Given the description of an element on the screen output the (x, y) to click on. 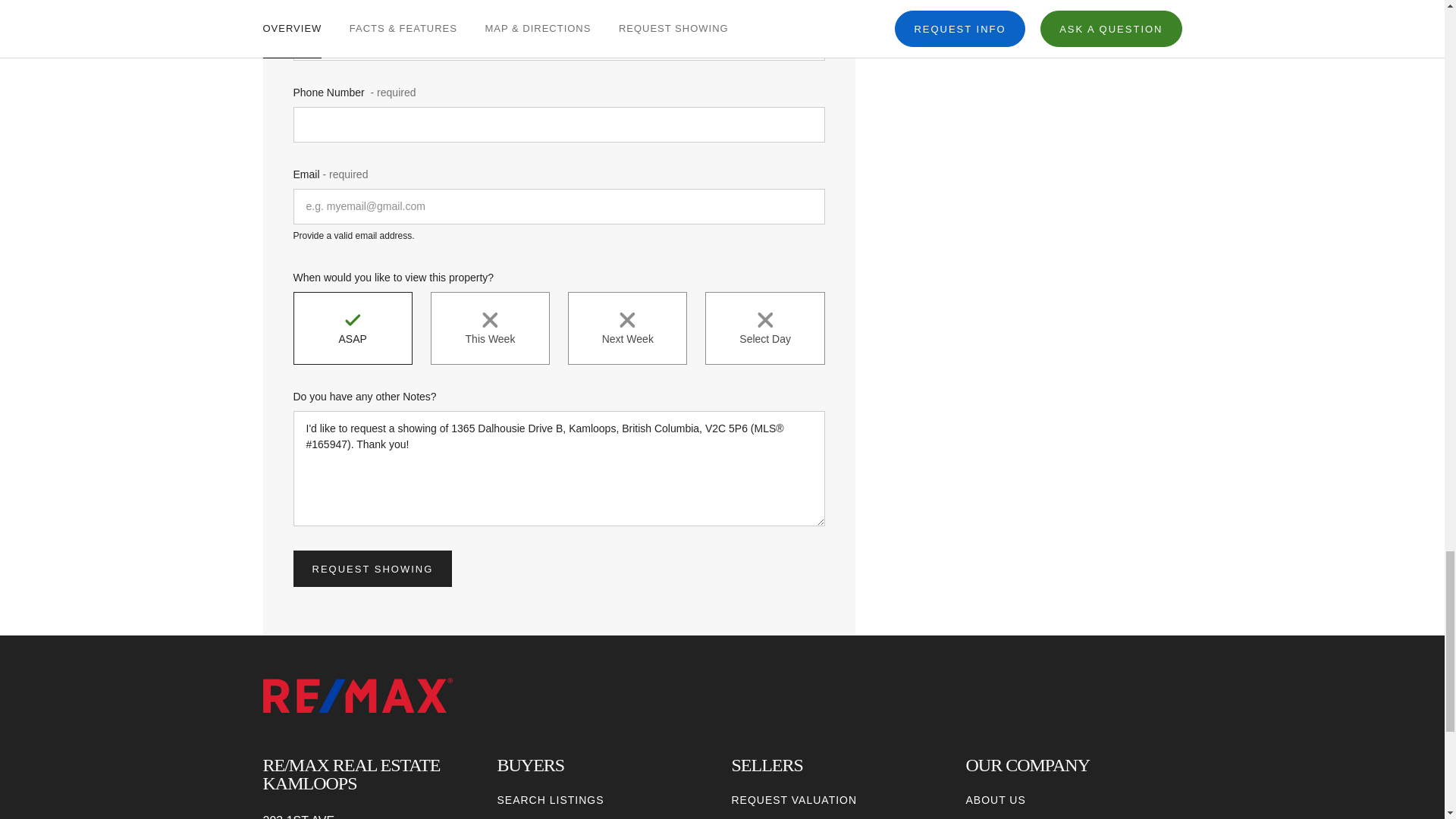
Next Week (627, 327)
This Week (490, 327)
ASAP (352, 327)
